Given the description of an element on the screen output the (x, y) to click on. 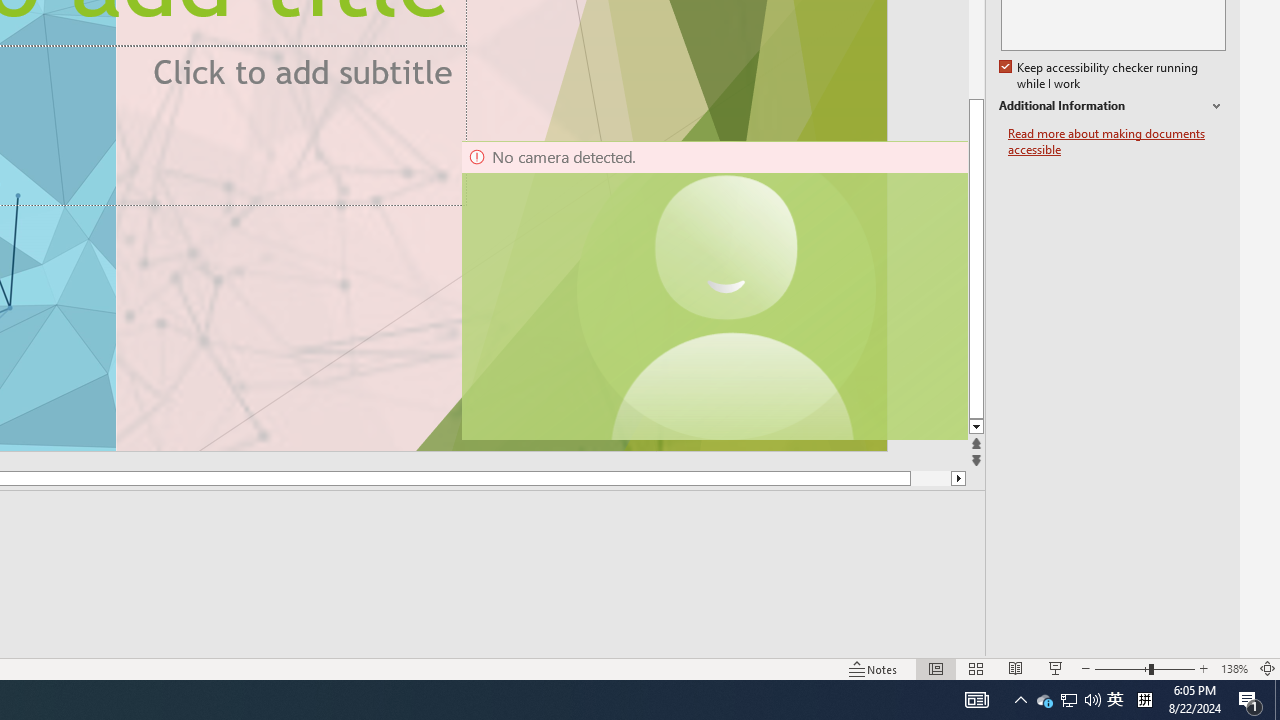
Additional Information (1112, 106)
